Given the description of an element on the screen output the (x, y) to click on. 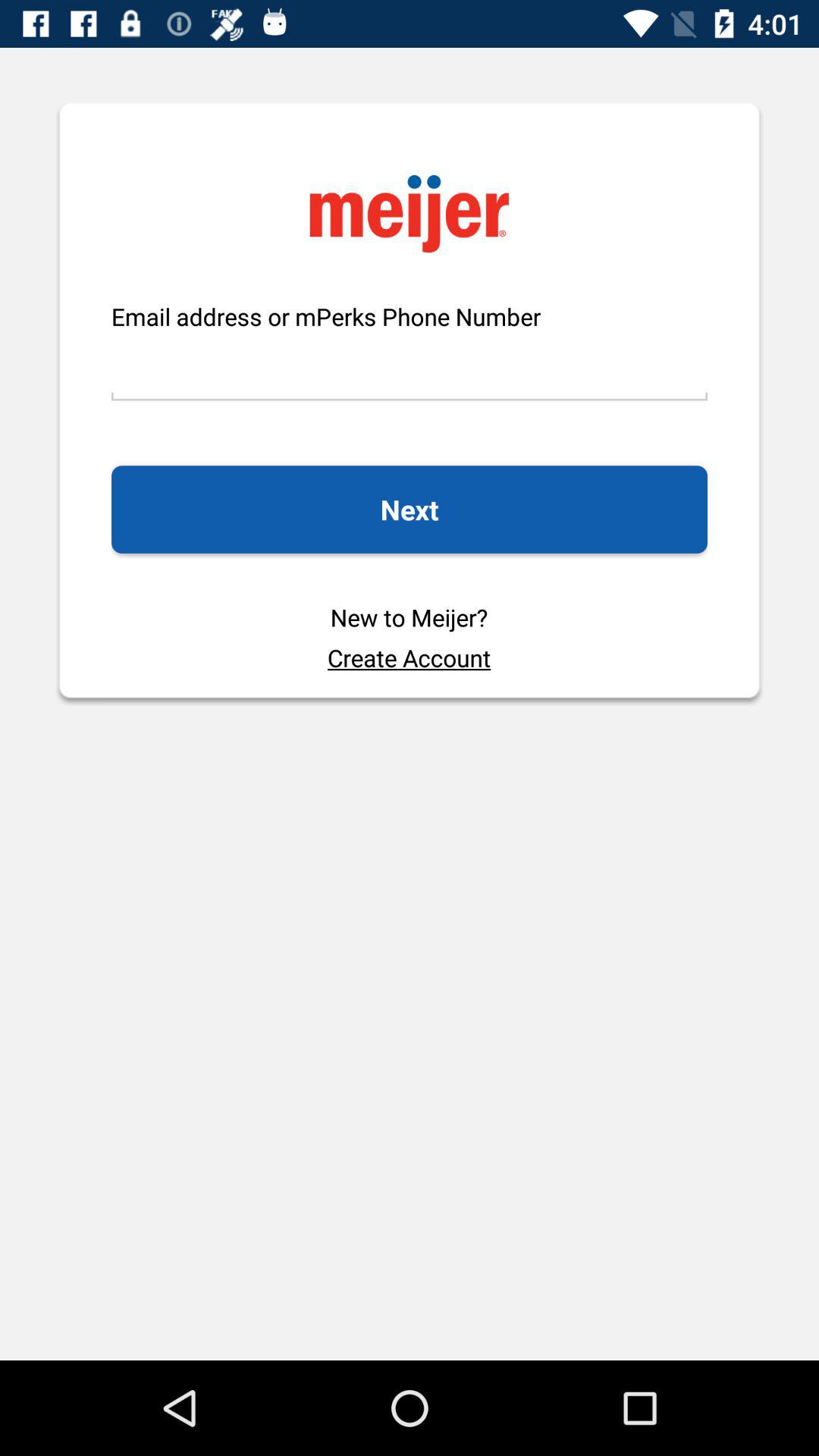
choose icon below email address or icon (409, 367)
